Given the description of an element on the screen output the (x, y) to click on. 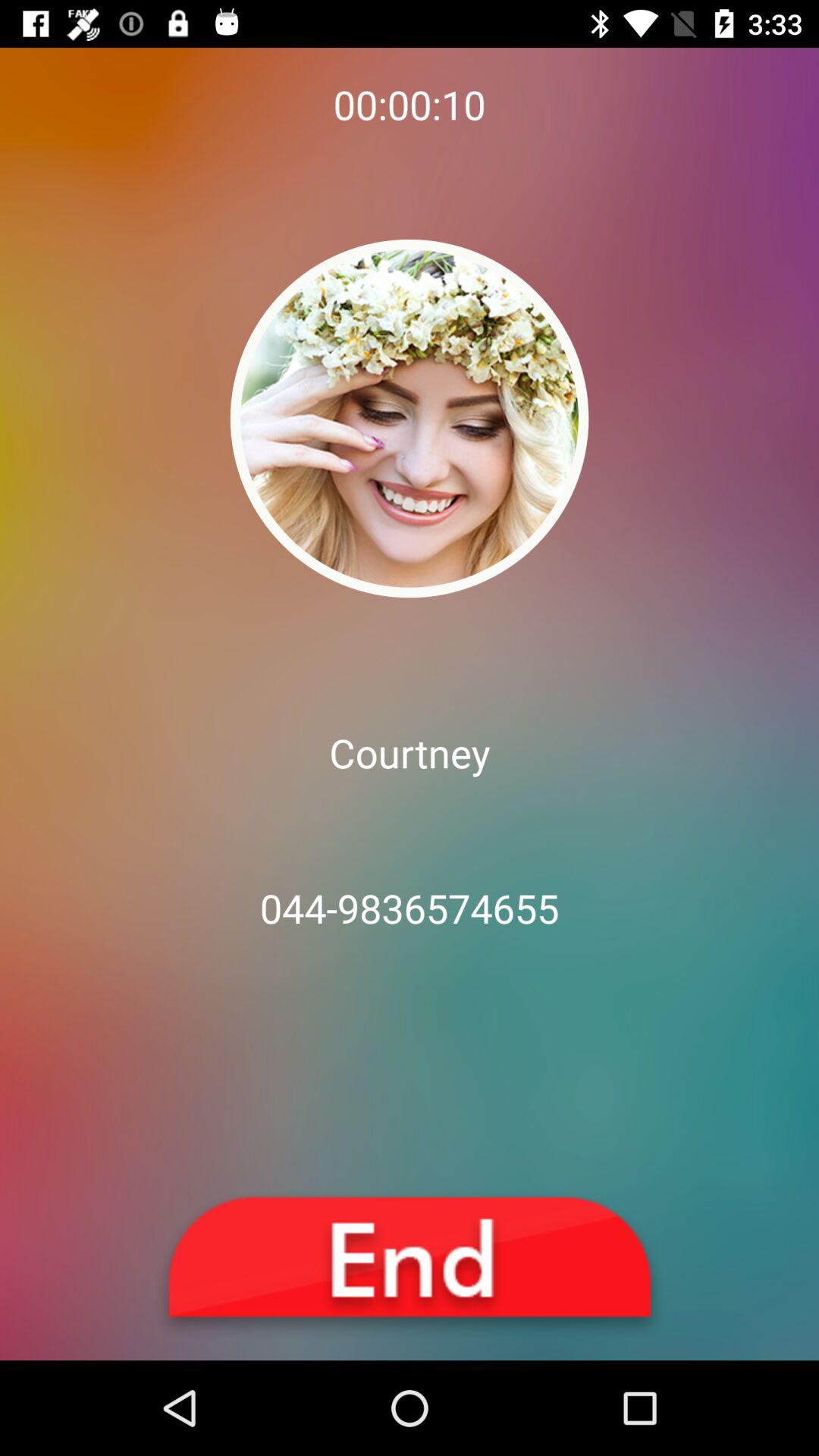
end call (409, 1264)
